Given the description of an element on the screen output the (x, y) to click on. 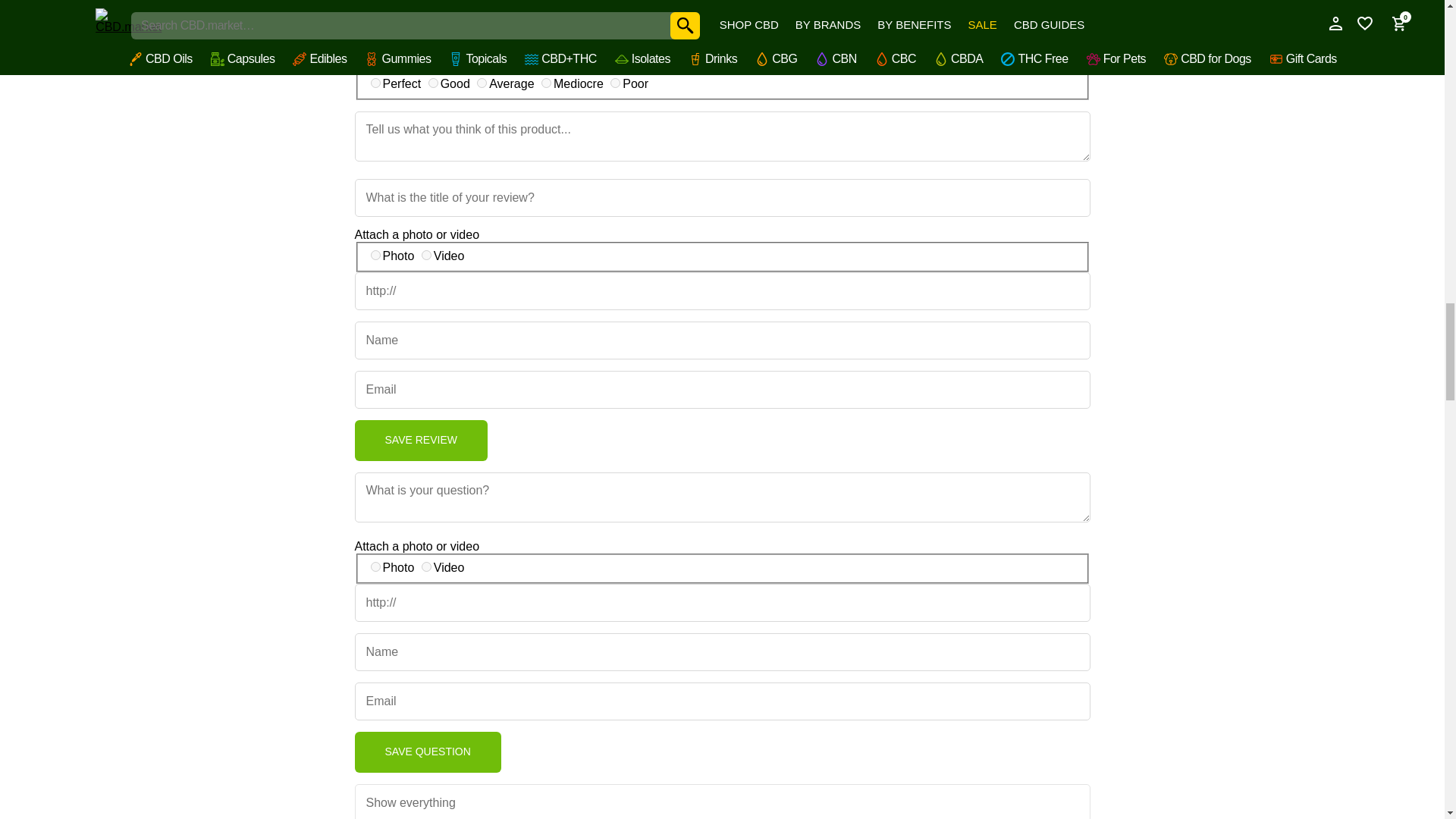
photo (374, 255)
2 (546, 82)
5 (374, 82)
video (426, 255)
photo (374, 566)
video (426, 566)
3 (481, 82)
1 (615, 82)
4 (433, 82)
